Given the description of an element on the screen output the (x, y) to click on. 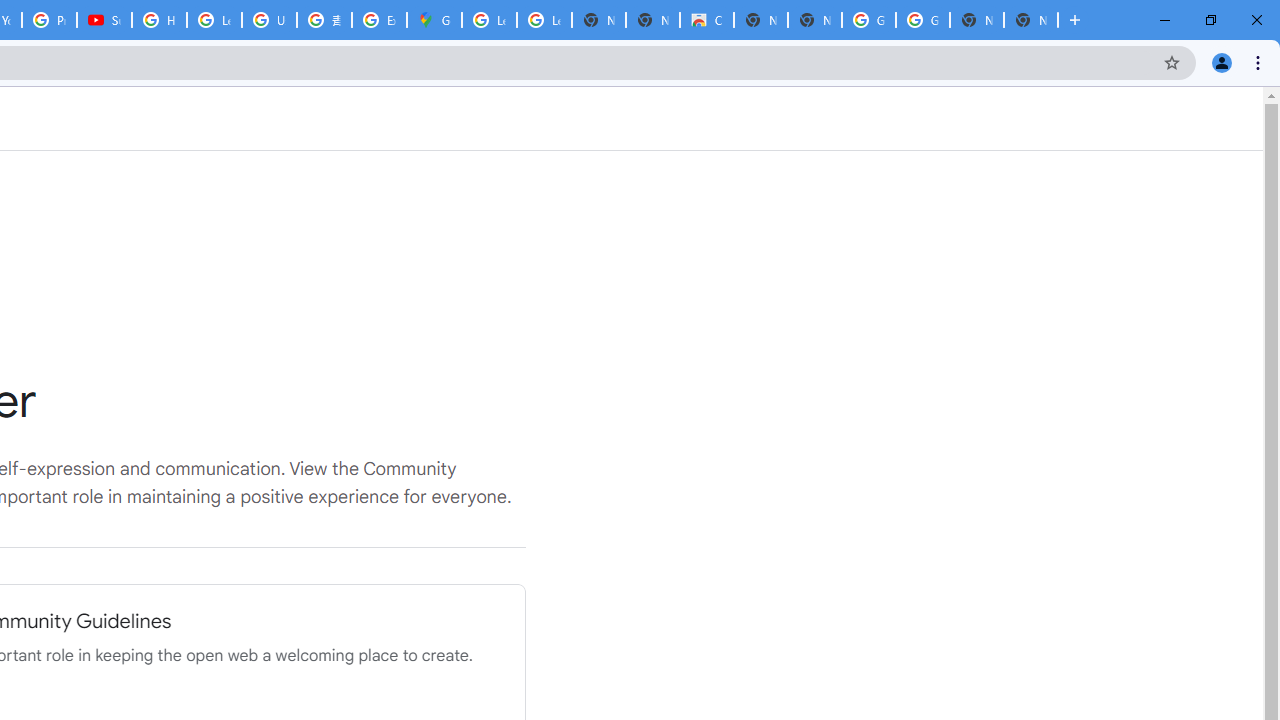
Chrome Web Store (706, 20)
Explore new street-level details - Google Maps Help (379, 20)
New Tab (1030, 20)
Subscriptions - YouTube (103, 20)
